Given the description of an element on the screen output the (x, y) to click on. 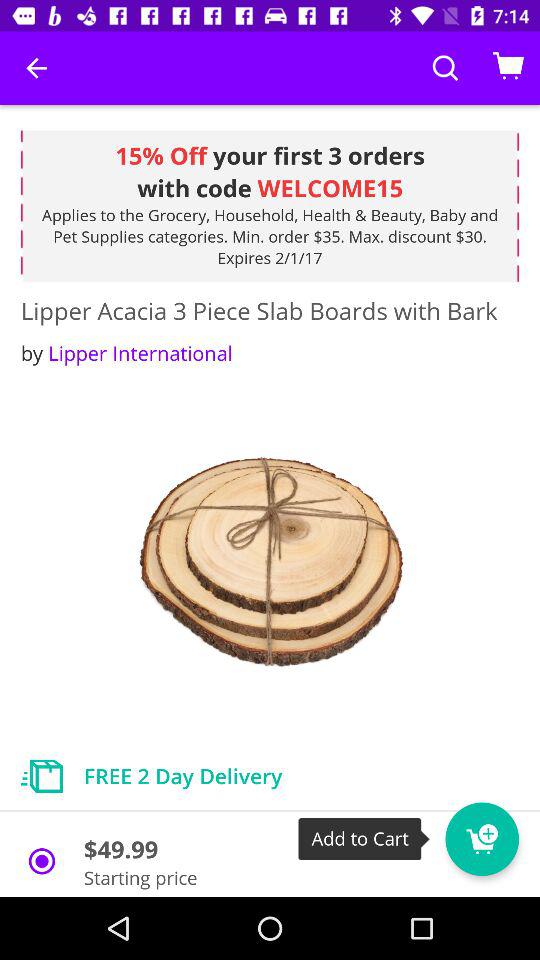
turn off item next to the add to cart item (482, 839)
